Given the description of an element on the screen output the (x, y) to click on. 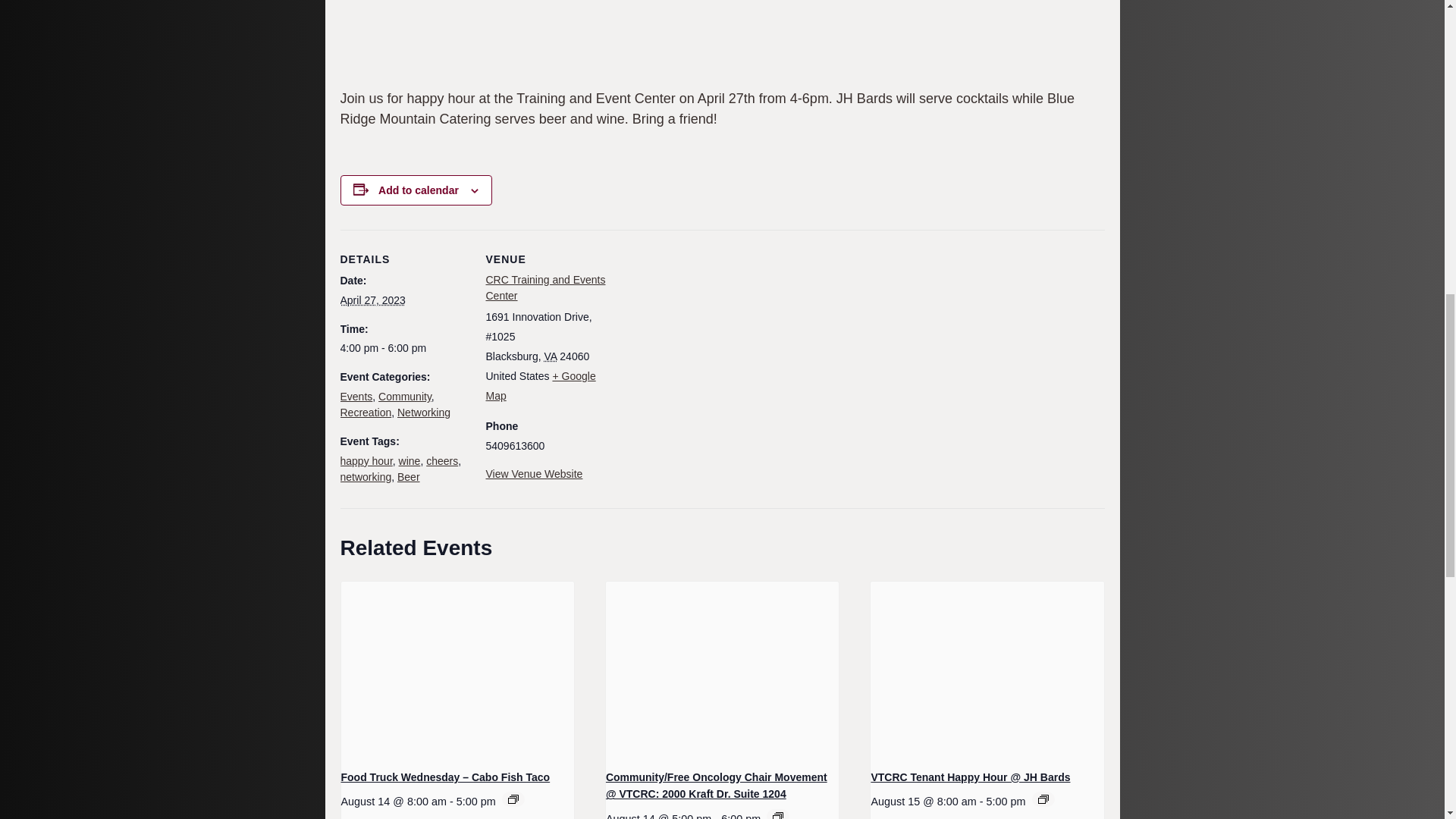
2023-04-27 (403, 348)
2023-04-27 (371, 300)
Virginia (550, 356)
Event Series (778, 815)
Event Series (513, 798)
Event Series (1043, 798)
Click to view a Google Map (539, 386)
